Given the description of an element on the screen output the (x, y) to click on. 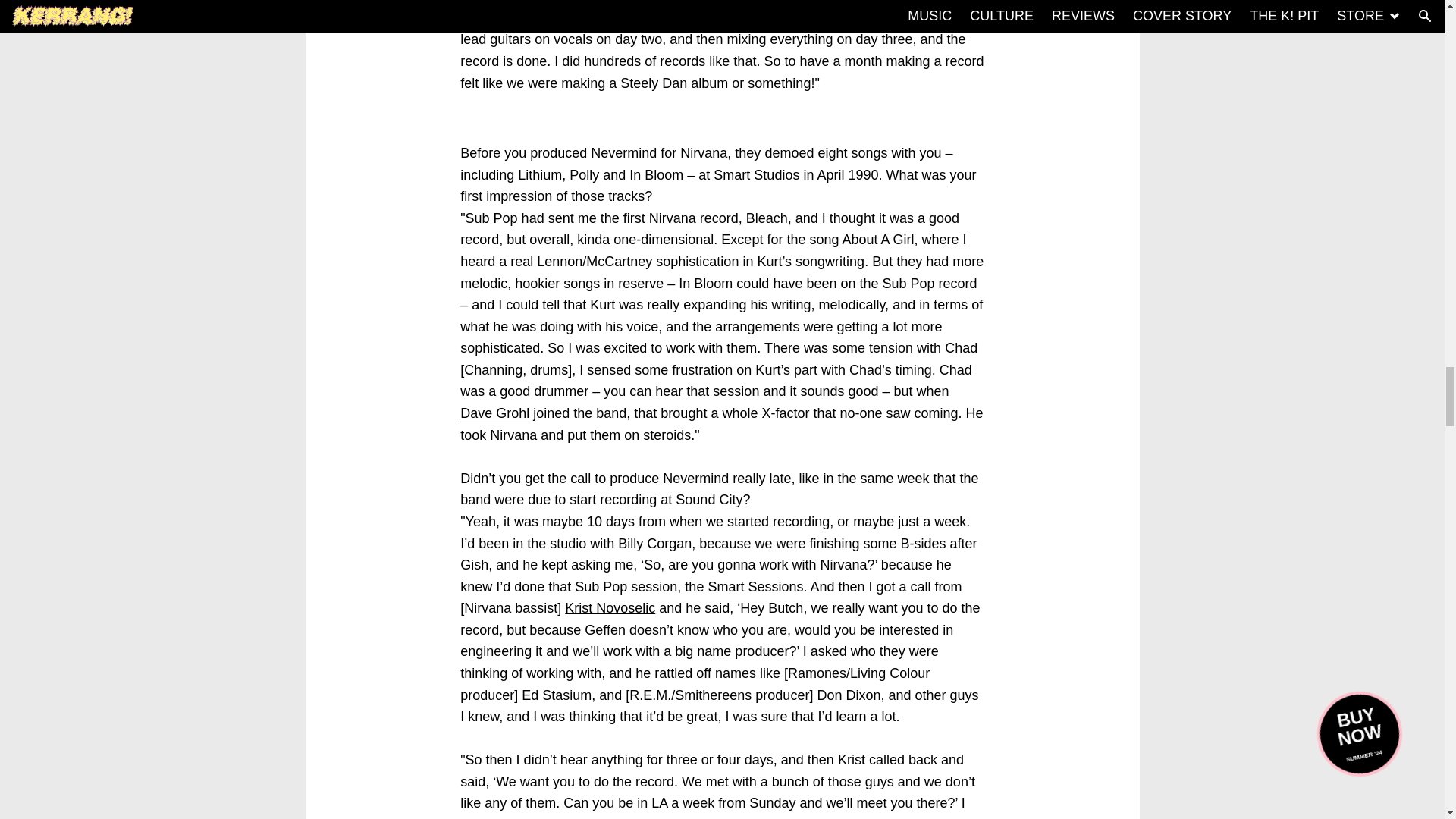
Bleach (766, 218)
Krist Novoselic (609, 607)
Dave Grohl (494, 412)
